Given the description of an element on the screen output the (x, y) to click on. 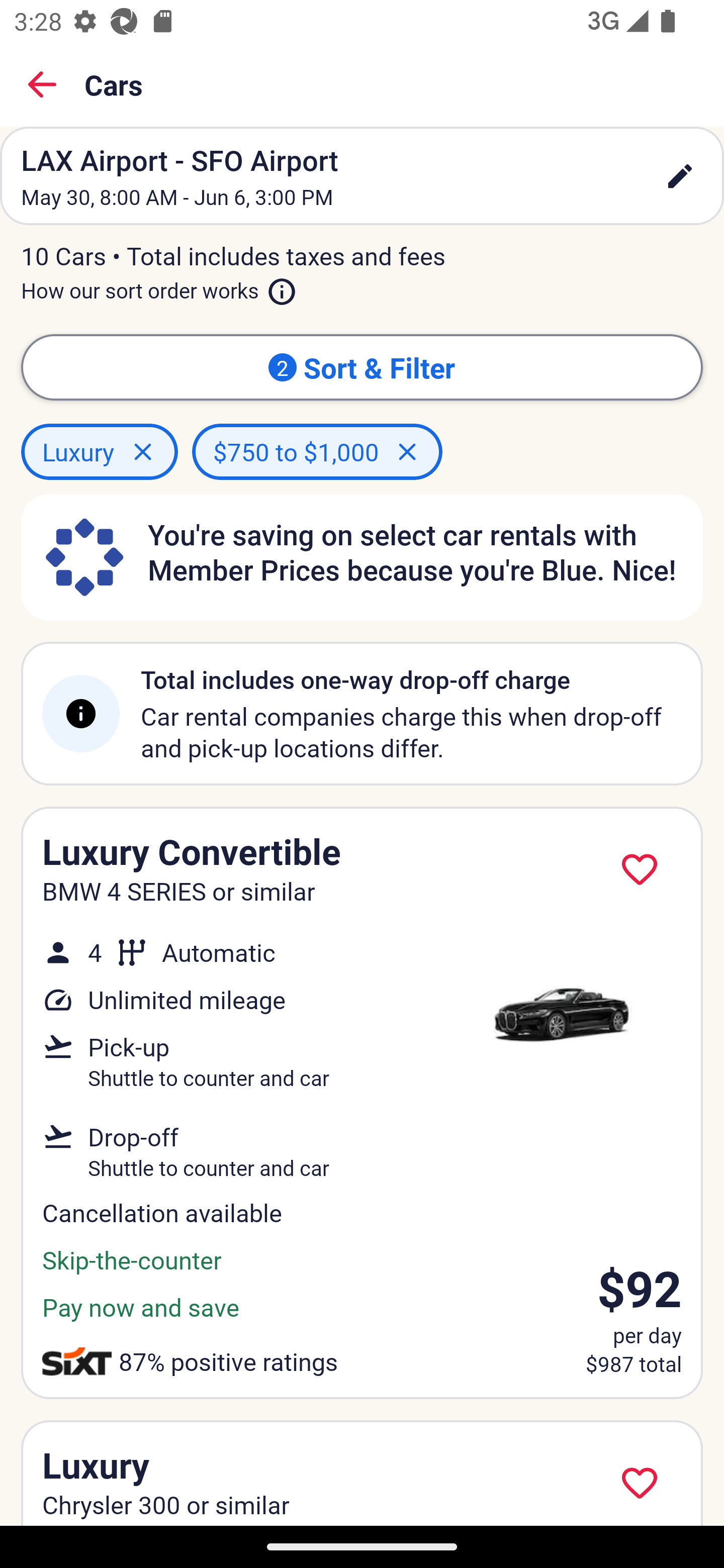
Back (42, 84)
edit (679, 175)
2 Sort & Filter (361, 366)
